Given the description of an element on the screen output the (x, y) to click on. 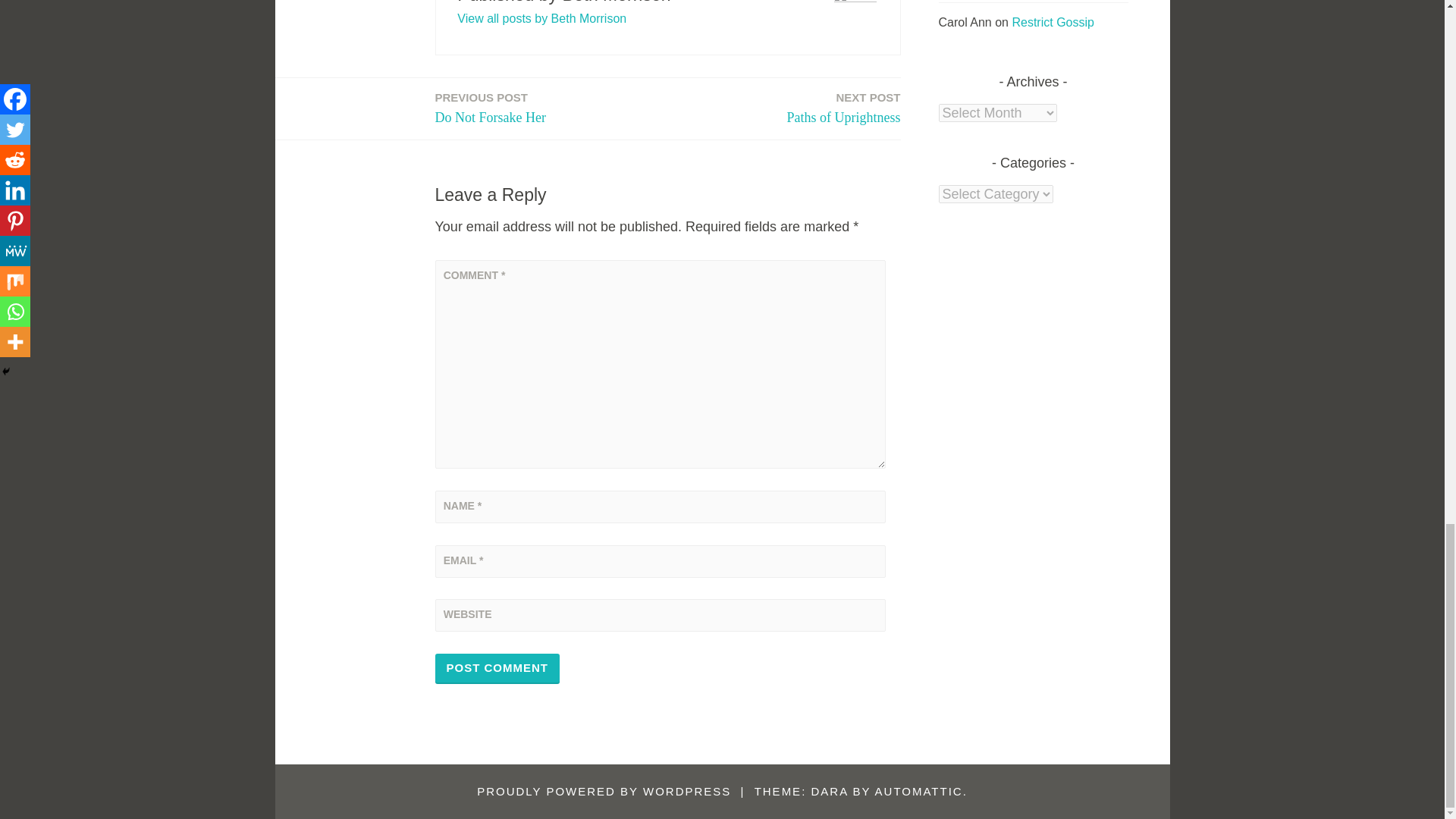
View all posts by Beth Morrison (490, 108)
Post Comment (844, 108)
Post Comment (541, 18)
